Given the description of an element on the screen output the (x, y) to click on. 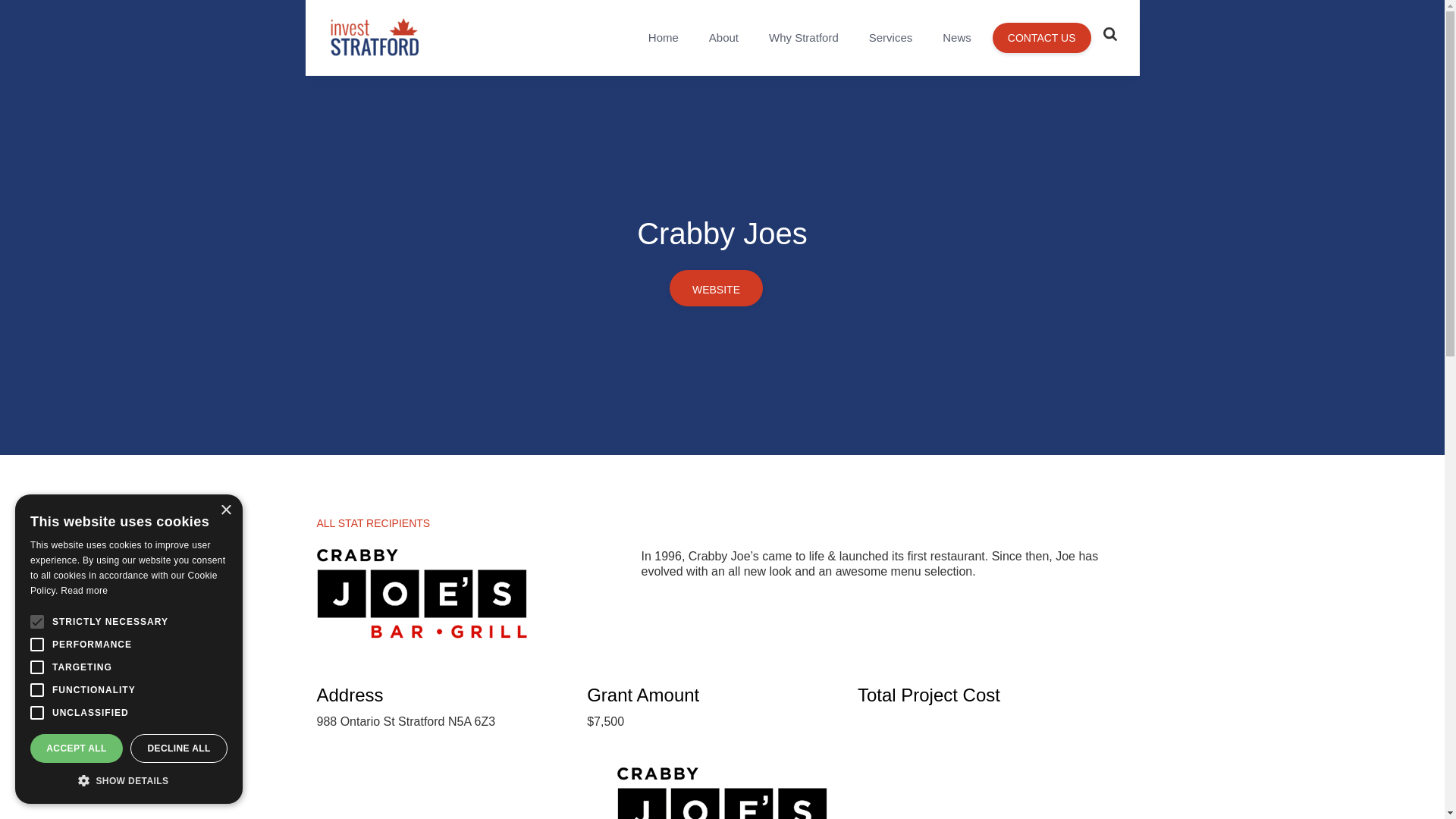
ALL STAT RECIPIENTS (373, 528)
CONTACT US (1041, 37)
Home (663, 37)
News (957, 37)
WEBSITE (715, 288)
Search (1085, 13)
